Given the description of an element on the screen output the (x, y) to click on. 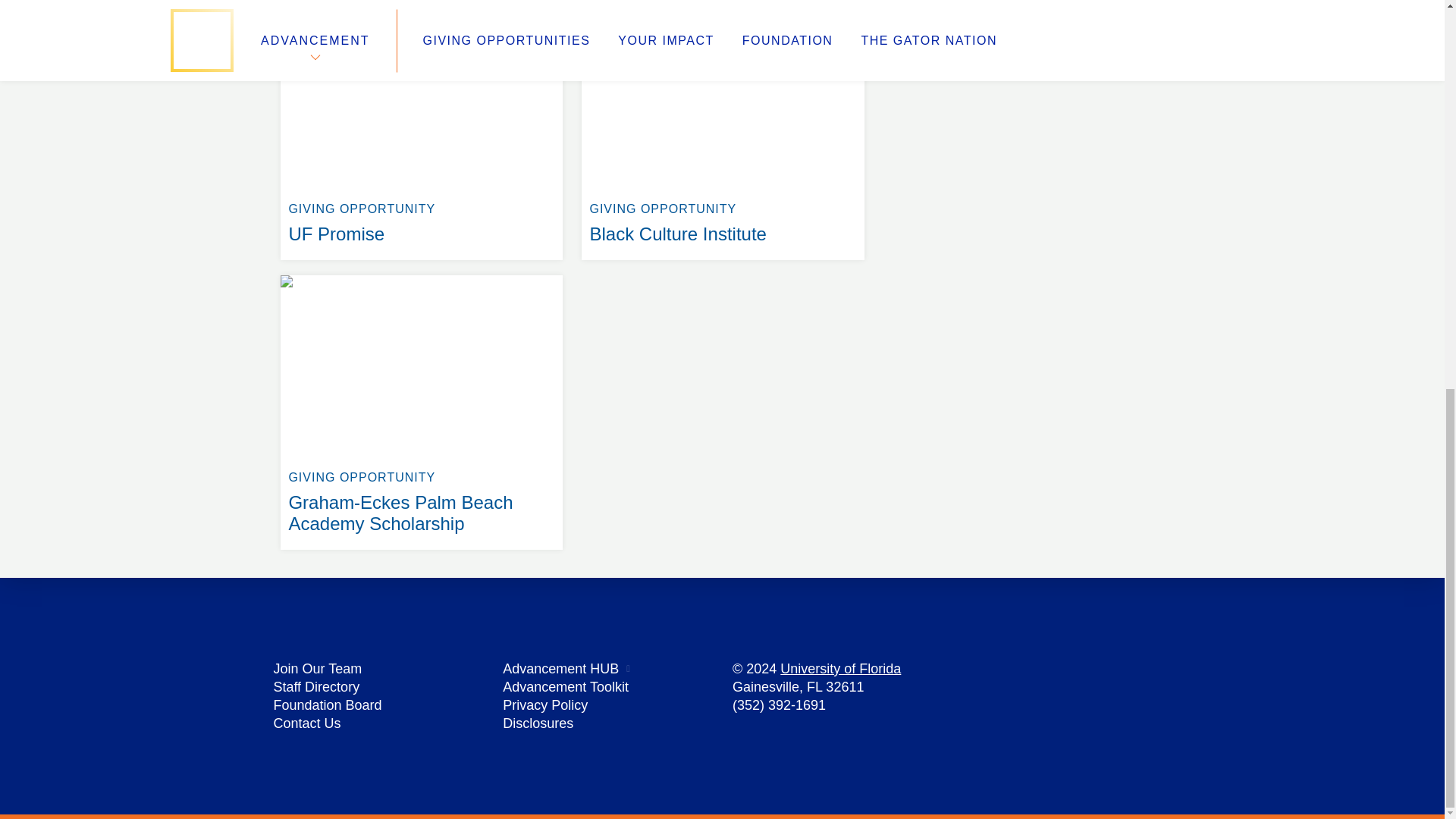
Advancement Toolkit (565, 686)
Privacy Policy (545, 704)
University of Florida (840, 668)
Staff Directory (316, 686)
Disclosures (537, 723)
Foundation Board (327, 704)
Contact Us (421, 7)
